Given the description of an element on the screen output the (x, y) to click on. 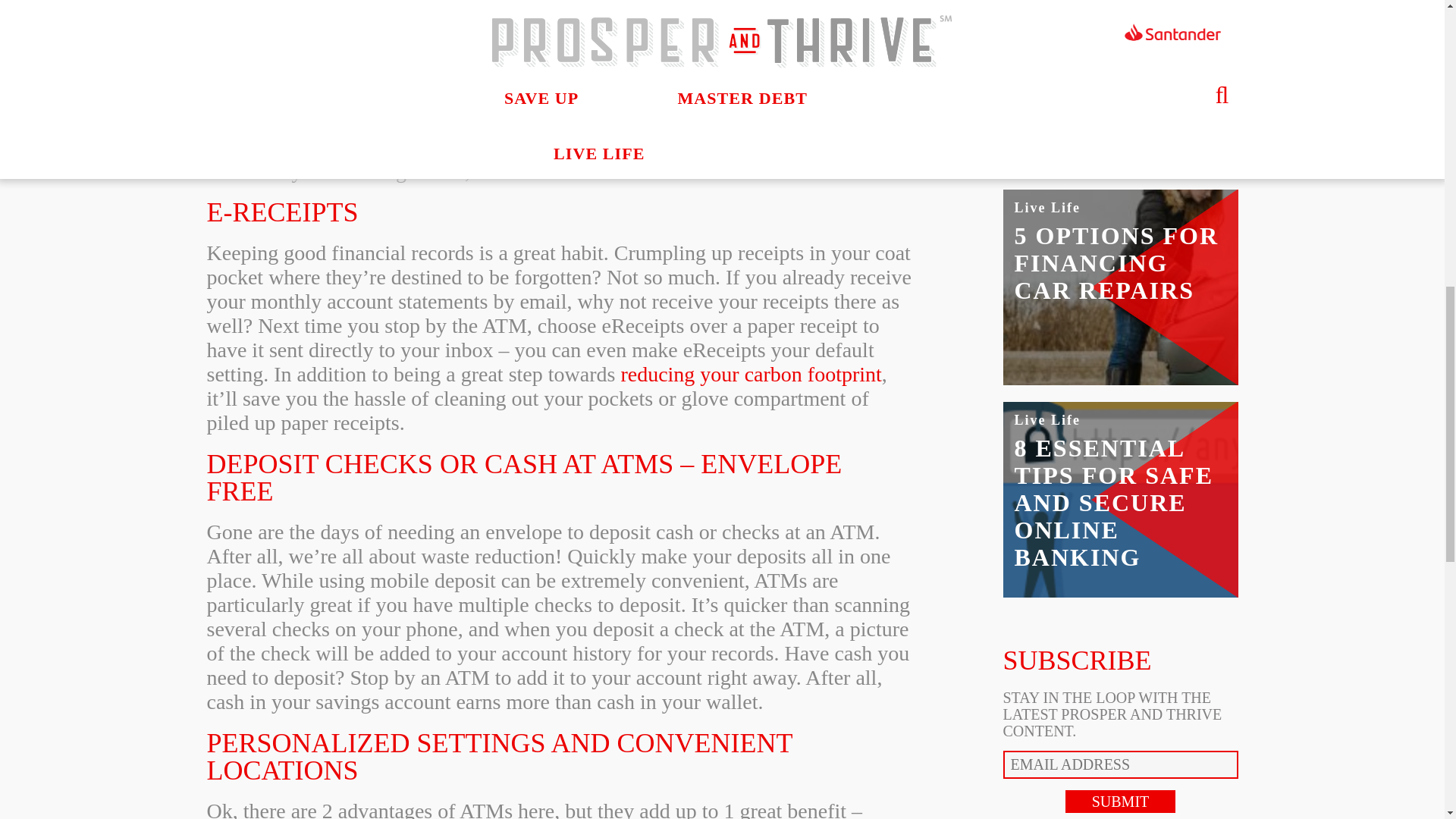
Live Life (1047, 419)
ATM (807, 97)
5 OPTIONS FOR FINANCING CAR REPAIRS (1117, 262)
reducing your carbon footprint (750, 373)
Man paying with credit card (1120, 140)
SUBMIT (1120, 801)
SUBMIT (1120, 801)
Live Life (1047, 207)
8 ESSENTIAL TIPS FOR SAFE AND SECURE ONLINE BANKING (1113, 502)
